Given the description of an element on the screen output the (x, y) to click on. 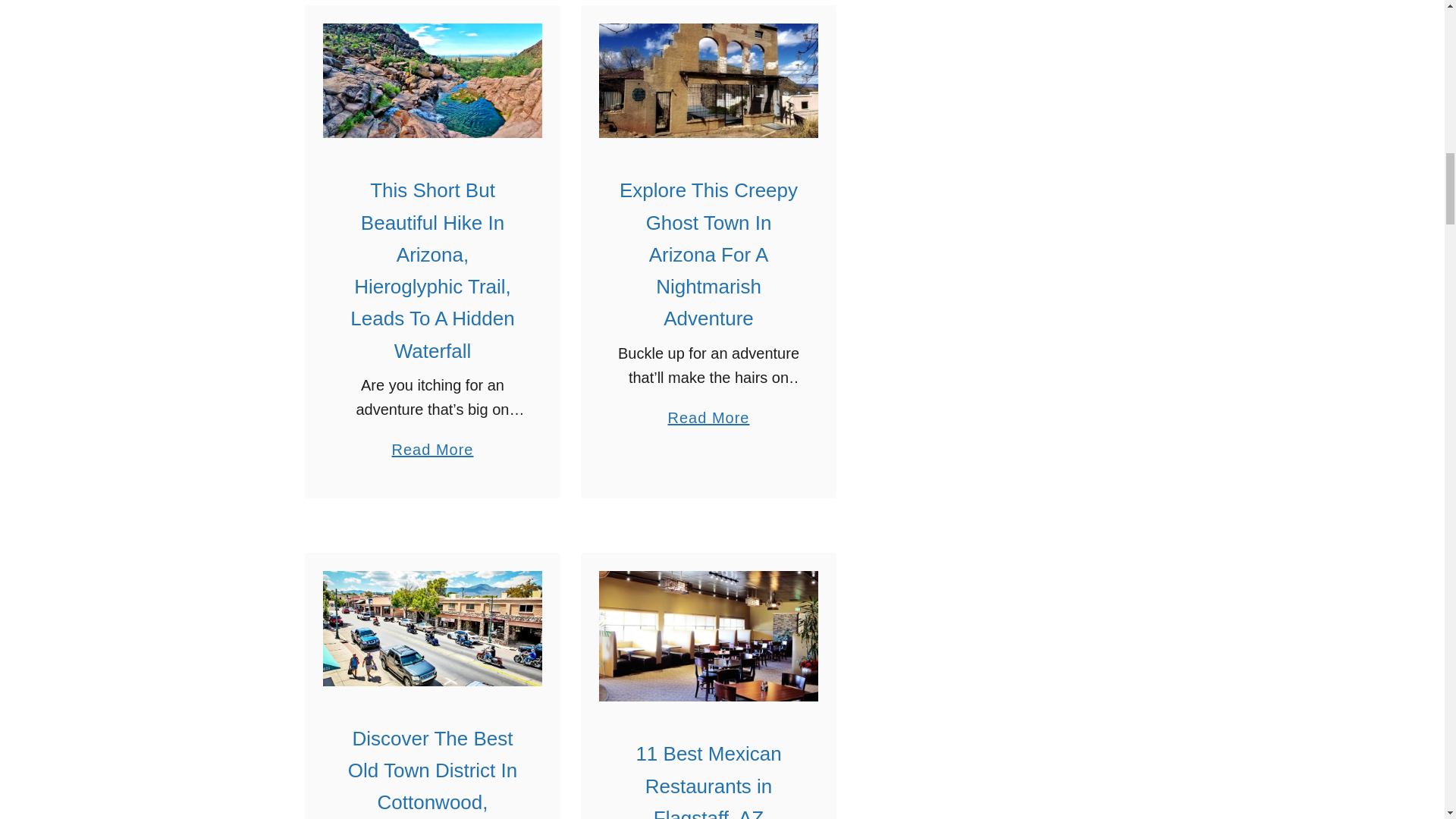
11 Best Mexican Restaurants in Flagstaff, AZ (708, 635)
